Given the description of an element on the screen output the (x, y) to click on. 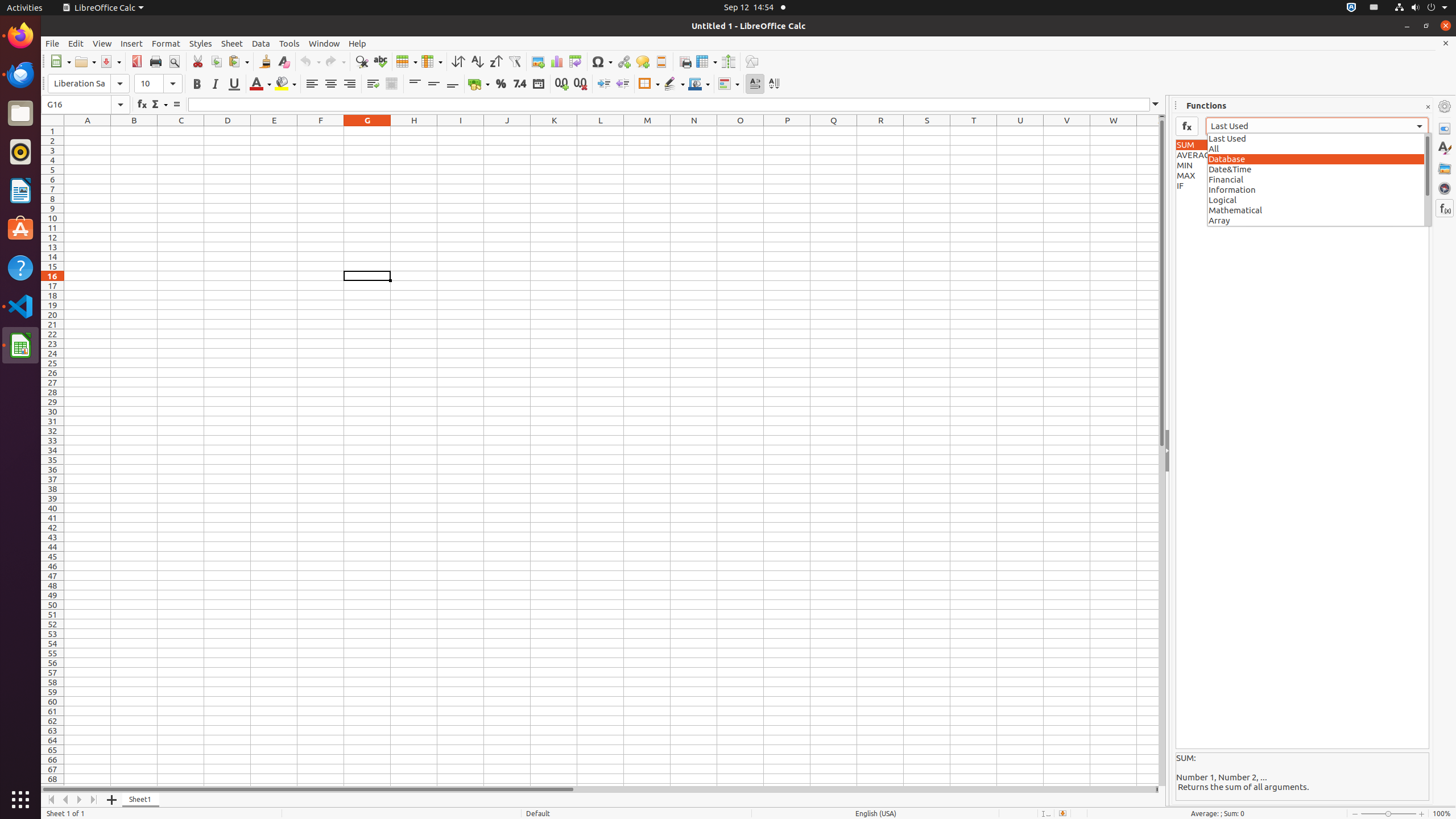
Print Area Element type: push-button (684, 61)
L1 Element type: table-cell (600, 130)
Paste Element type: push-button (237, 61)
Print Element type: push-button (155, 61)
A1 Element type: table-cell (87, 130)
